Given the description of an element on the screen output the (x, y) to click on. 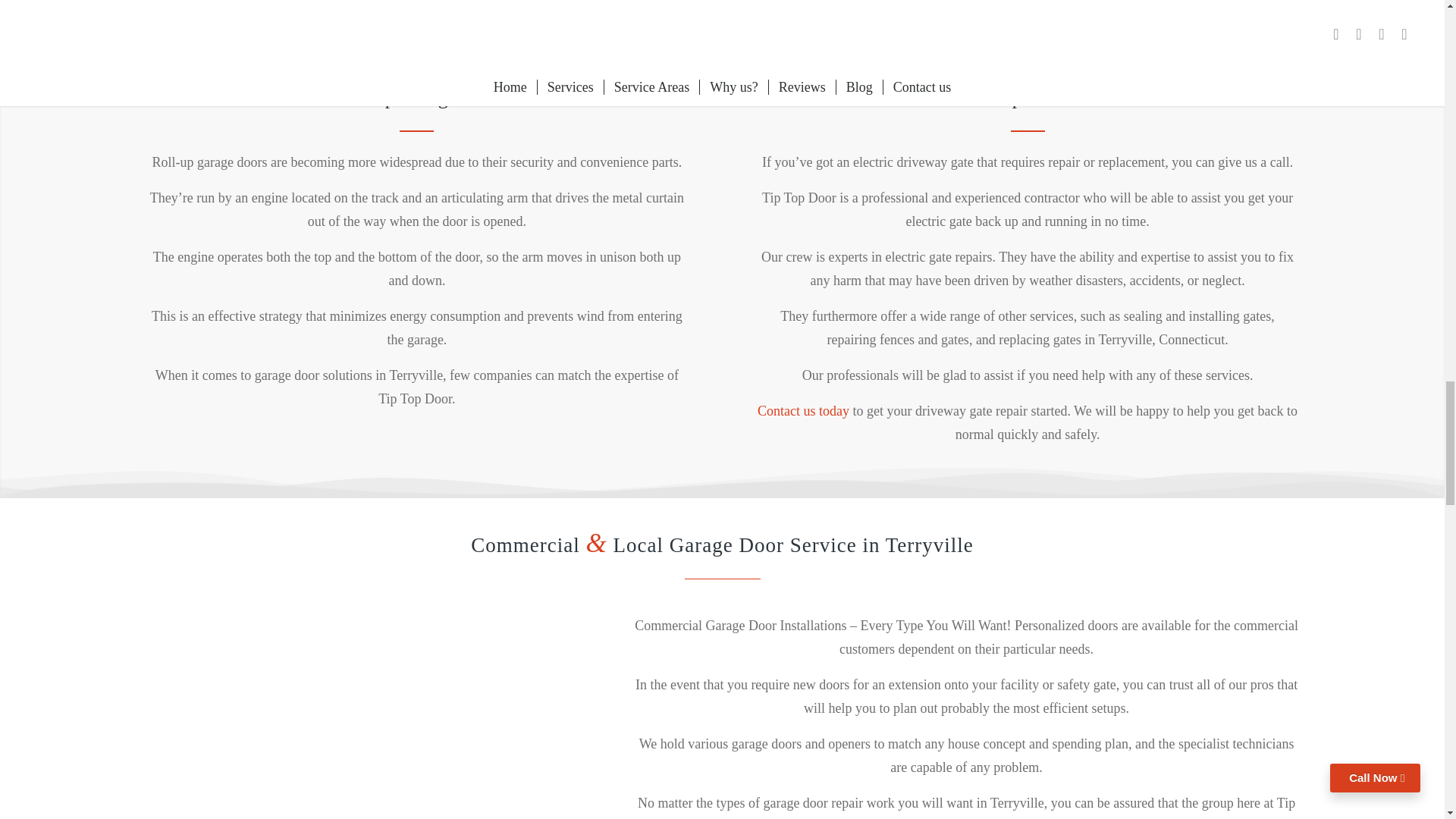
Contact us today (802, 410)
